Given the description of an element on the screen output the (x, y) to click on. 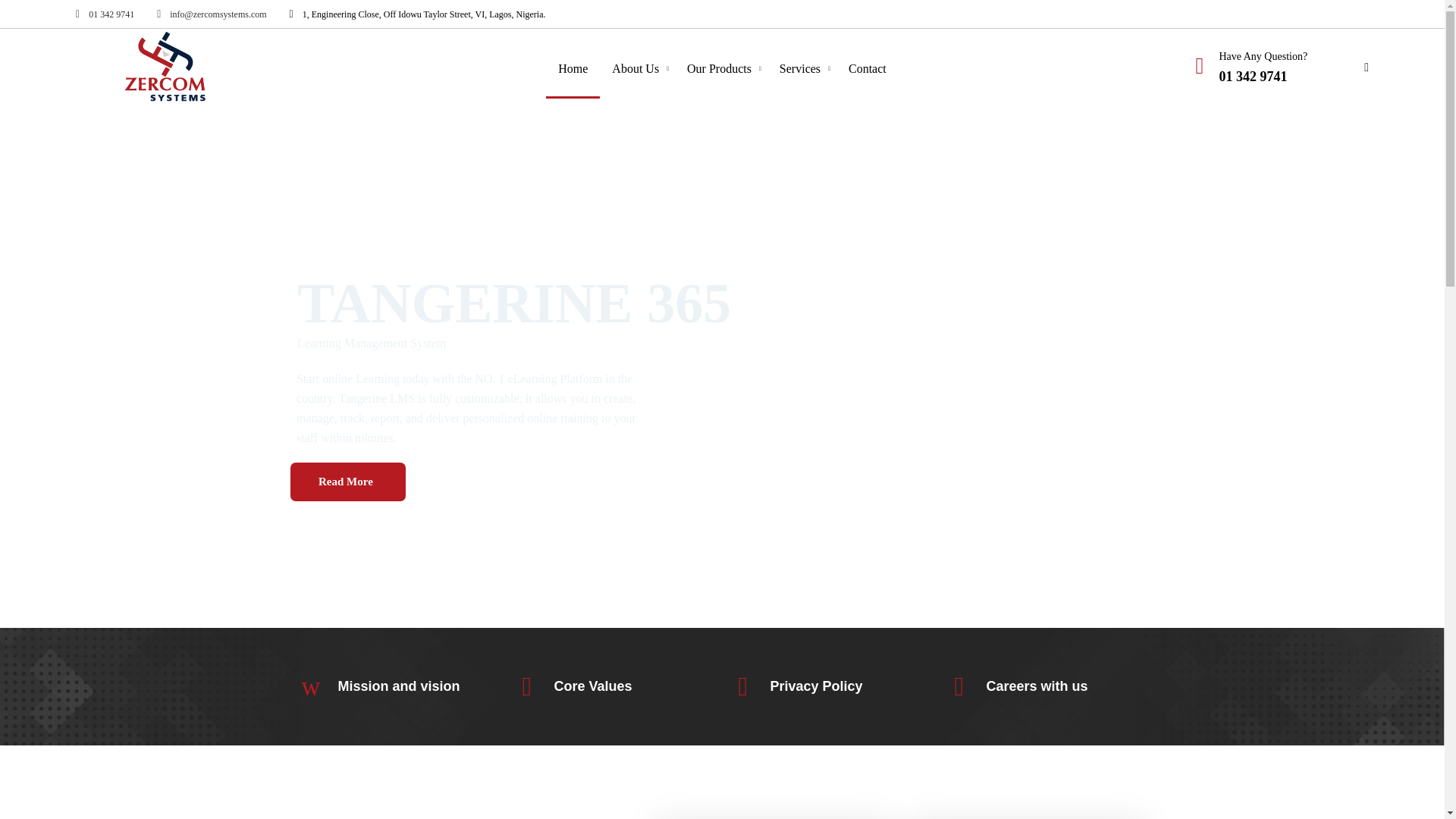
About Us (637, 66)
01 342 9741 (104, 14)
Our Products (721, 66)
01 342 9741 (1252, 76)
Services (801, 66)
Contact (866, 66)
